Given the description of an element on the screen output the (x, y) to click on. 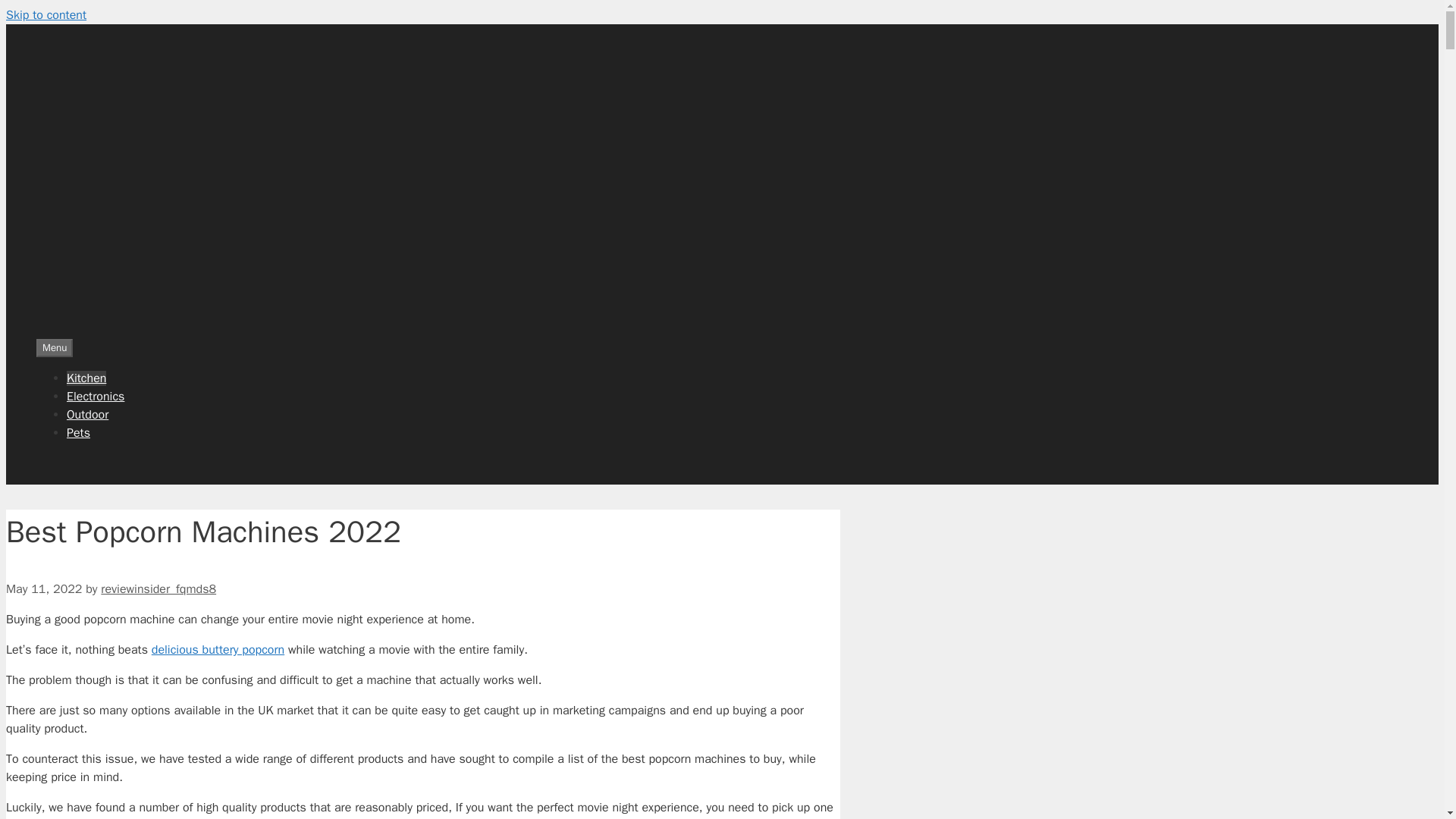
Electronics (94, 396)
Kitchen (86, 378)
Skip to content (45, 14)
Skip to content (45, 14)
delicious buttery popcorn (217, 649)
Menu (54, 348)
Outdoor (86, 414)
Pets (78, 432)
